Given the description of an element on the screen output the (x, y) to click on. 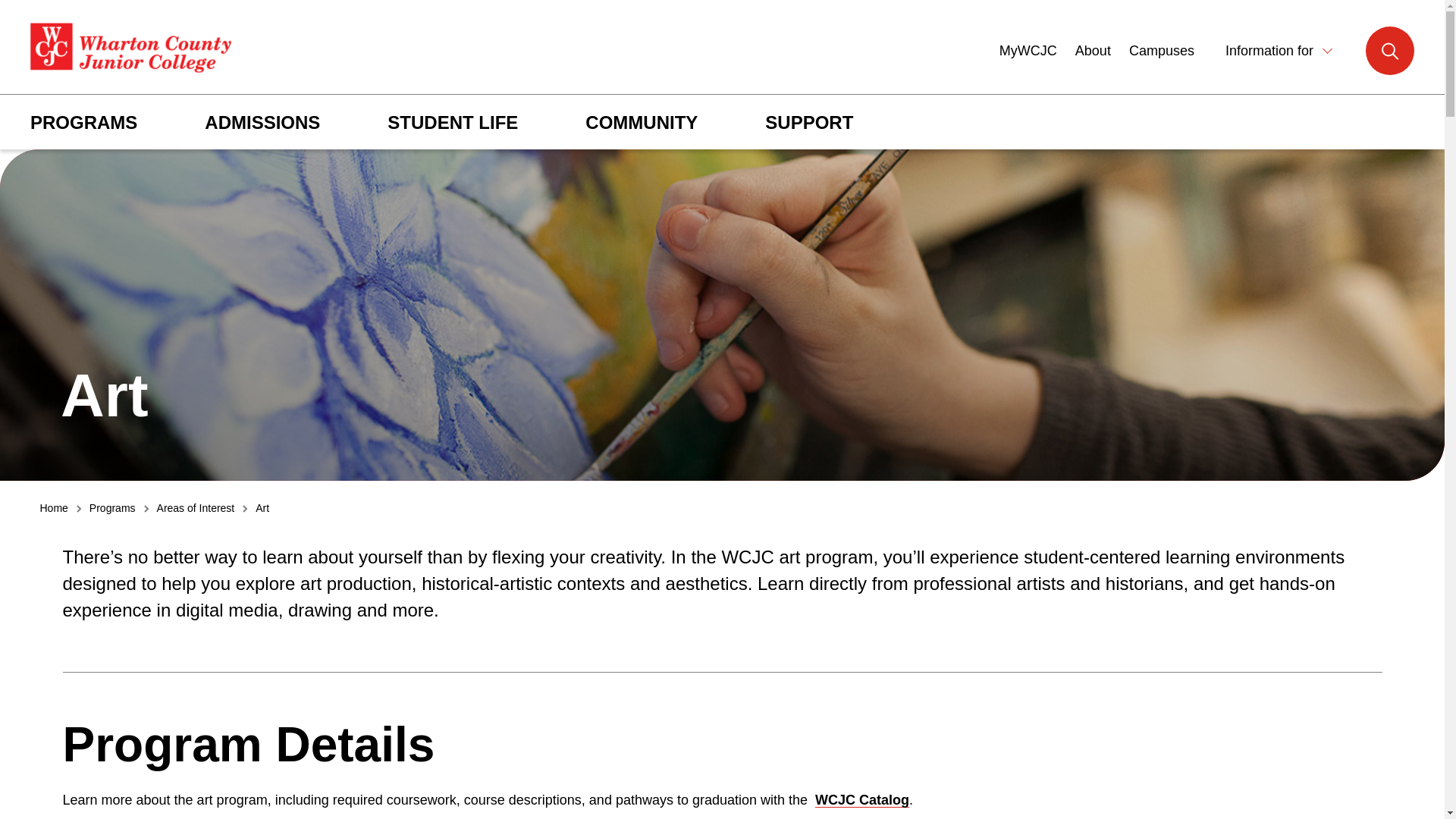
Admissions (262, 122)
Information for (1280, 50)
ADMISSIONS (262, 122)
PROGRAMS (83, 122)
Campuses (1161, 51)
Campuses (1161, 51)
MyWCJC (1027, 48)
Wharton - home page (130, 48)
STUDENT LIFE (452, 122)
open search (1389, 50)
Programs (83, 122)
MyWCJC (1027, 48)
About (1092, 51)
About (1092, 51)
